Given the description of an element on the screen output the (x, y) to click on. 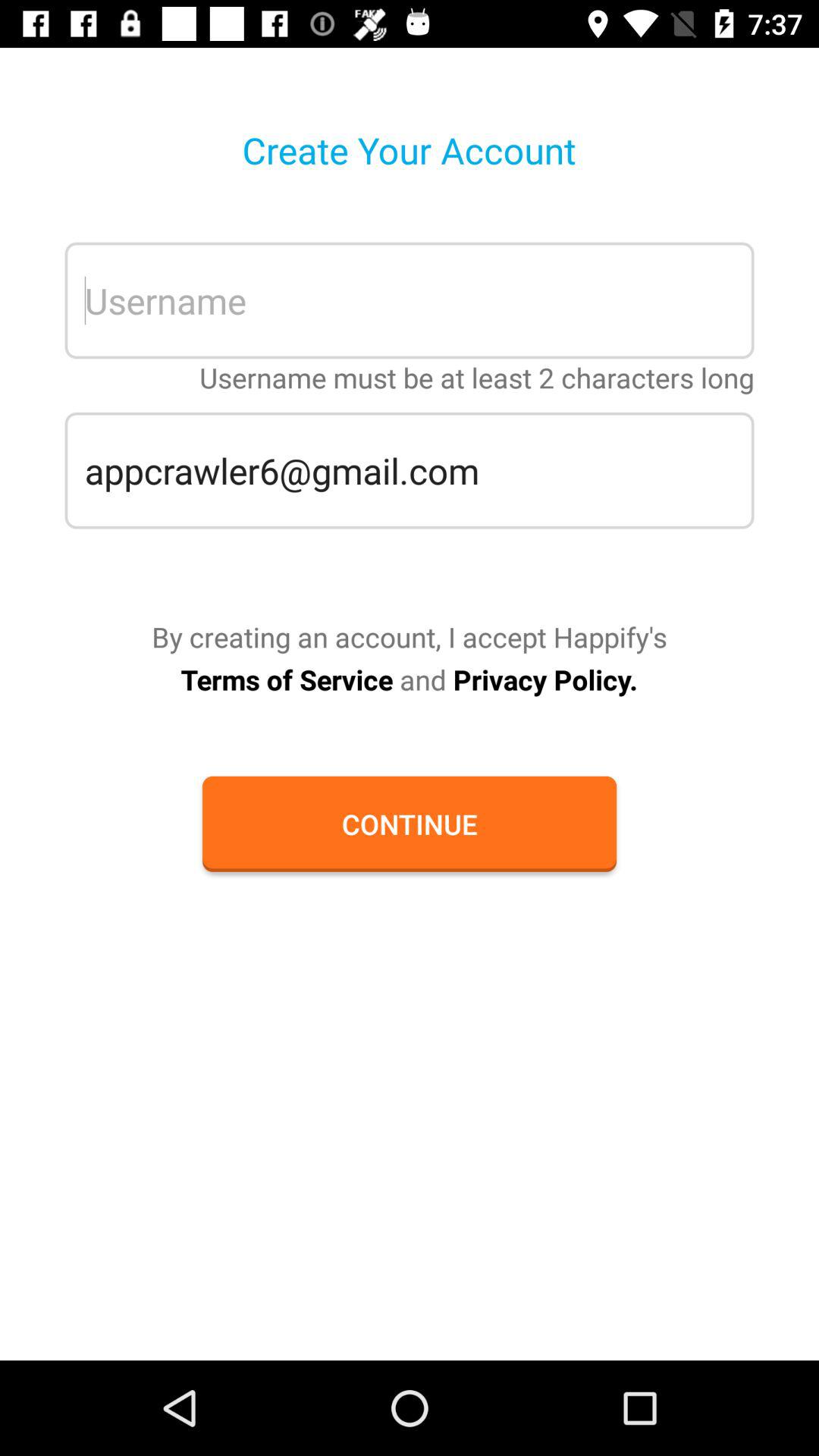
tap item above continue (408, 679)
